Given the description of an element on the screen output the (x, y) to click on. 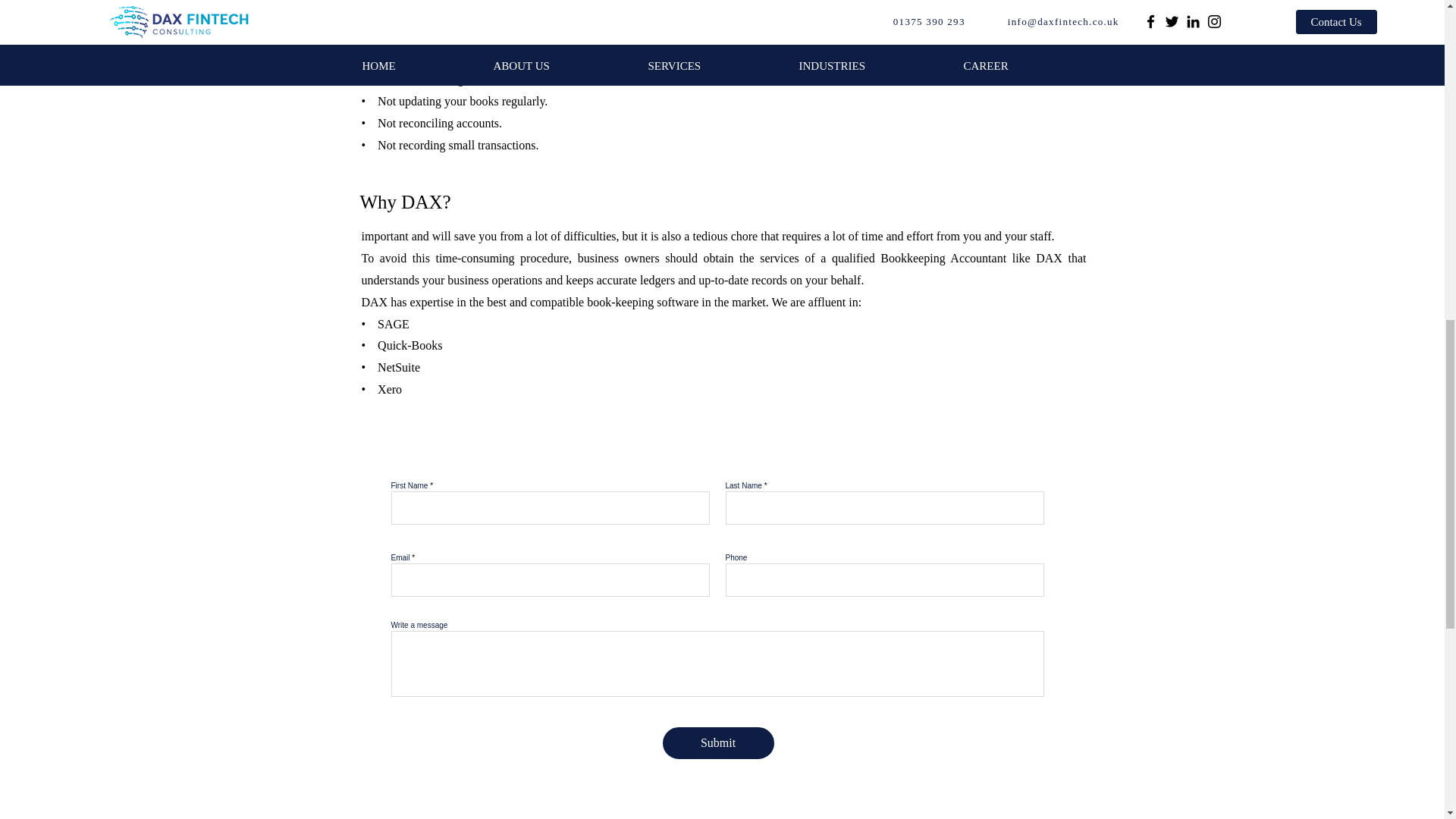
Submit (718, 743)
